Given the description of an element on the screen output the (x, y) to click on. 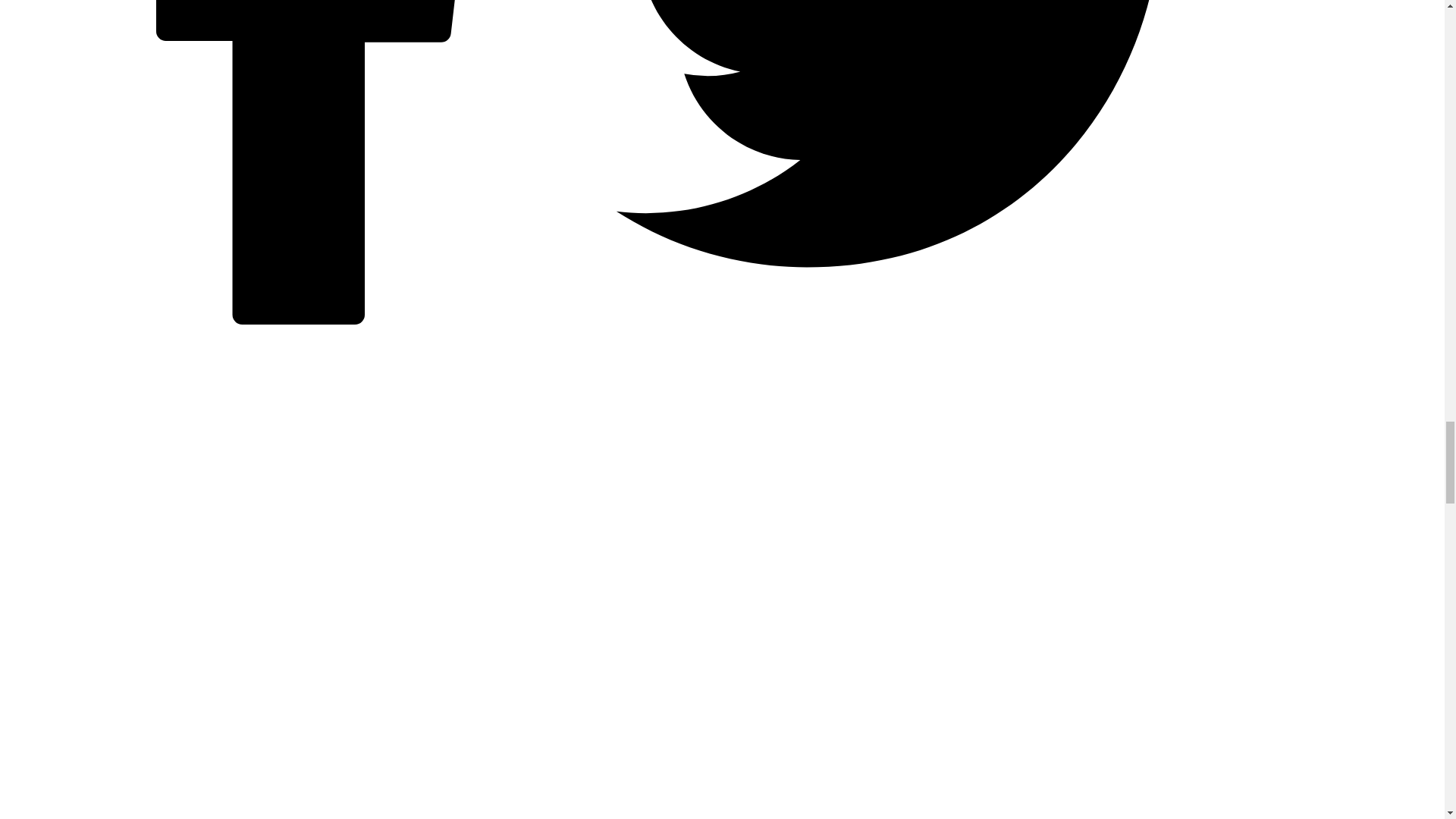
Share on Facebook (310, 319)
Tweet This Post (919, 319)
